Given the description of an element on the screen output the (x, y) to click on. 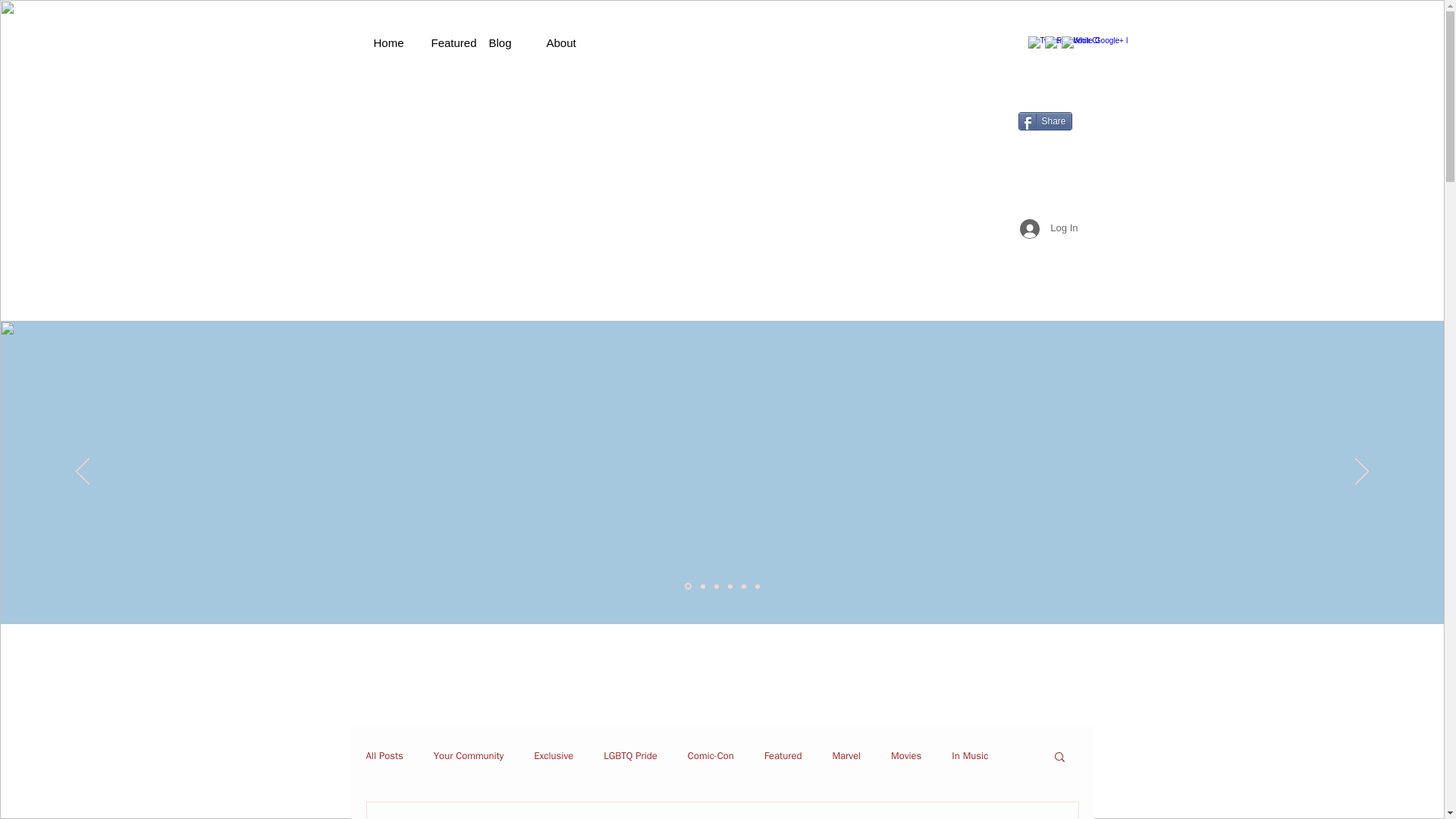
LGBTQ Pride (631, 755)
Share (1044, 121)
Log In (1048, 227)
About (566, 42)
Exclusive (553, 755)
Movies (906, 755)
Featured (451, 42)
Comic-Con (710, 755)
Share (1044, 121)
Blog (509, 42)
